Given the description of an element on the screen output the (x, y) to click on. 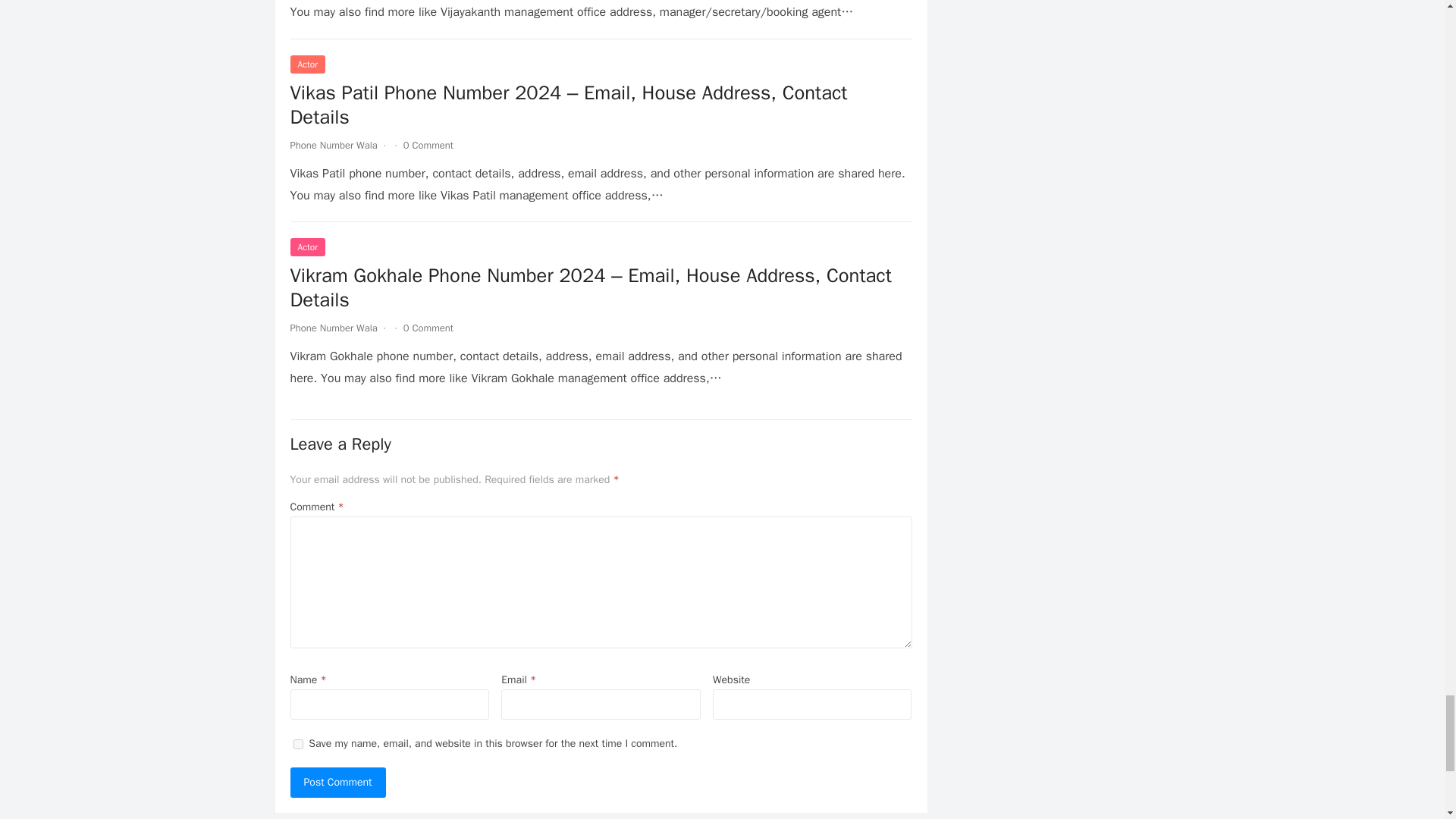
yes (297, 744)
Post Comment (337, 782)
